Given the description of an element on the screen output the (x, y) to click on. 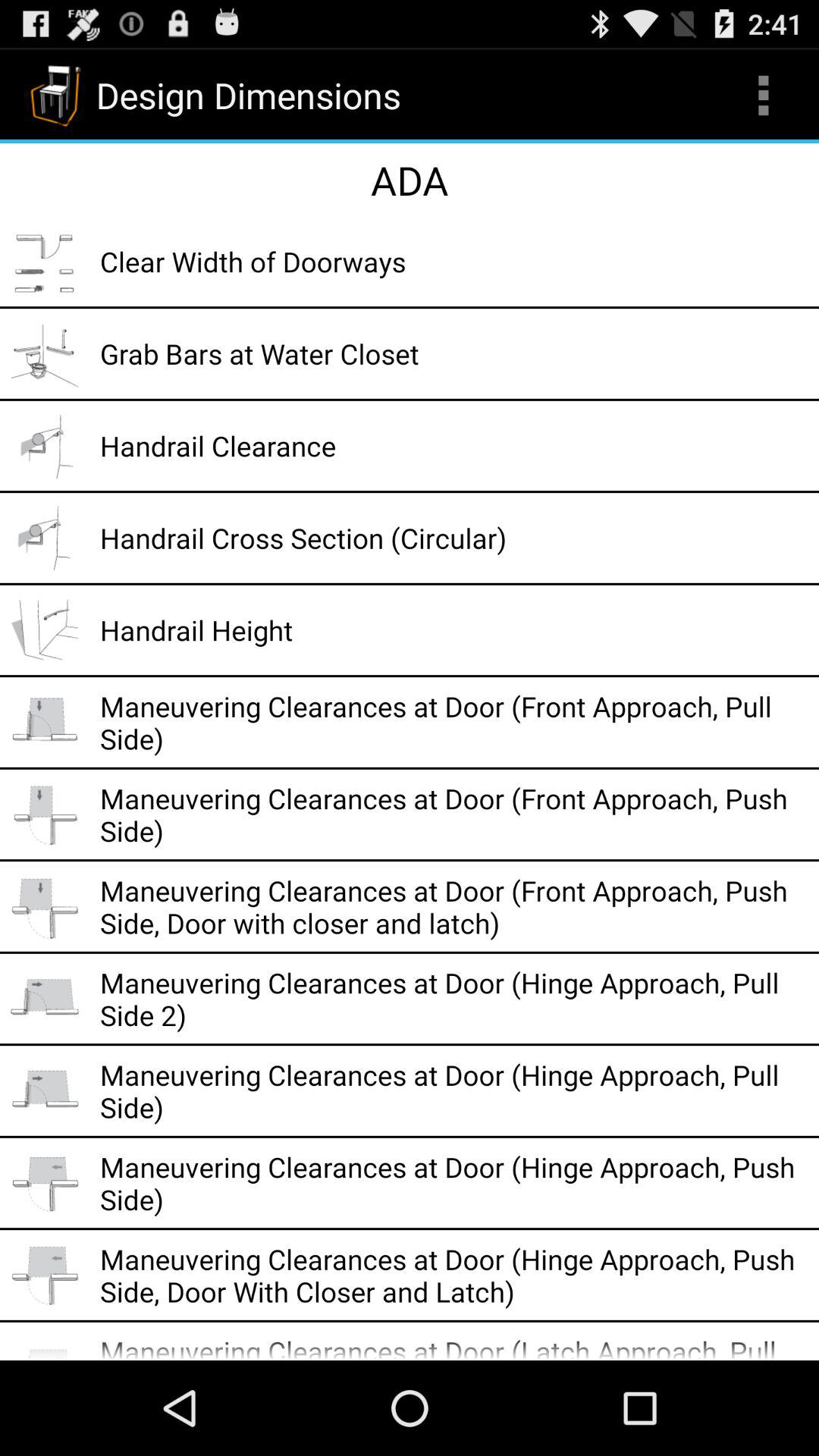
turn on app below the ada app (454, 261)
